Given the description of an element on the screen output the (x, y) to click on. 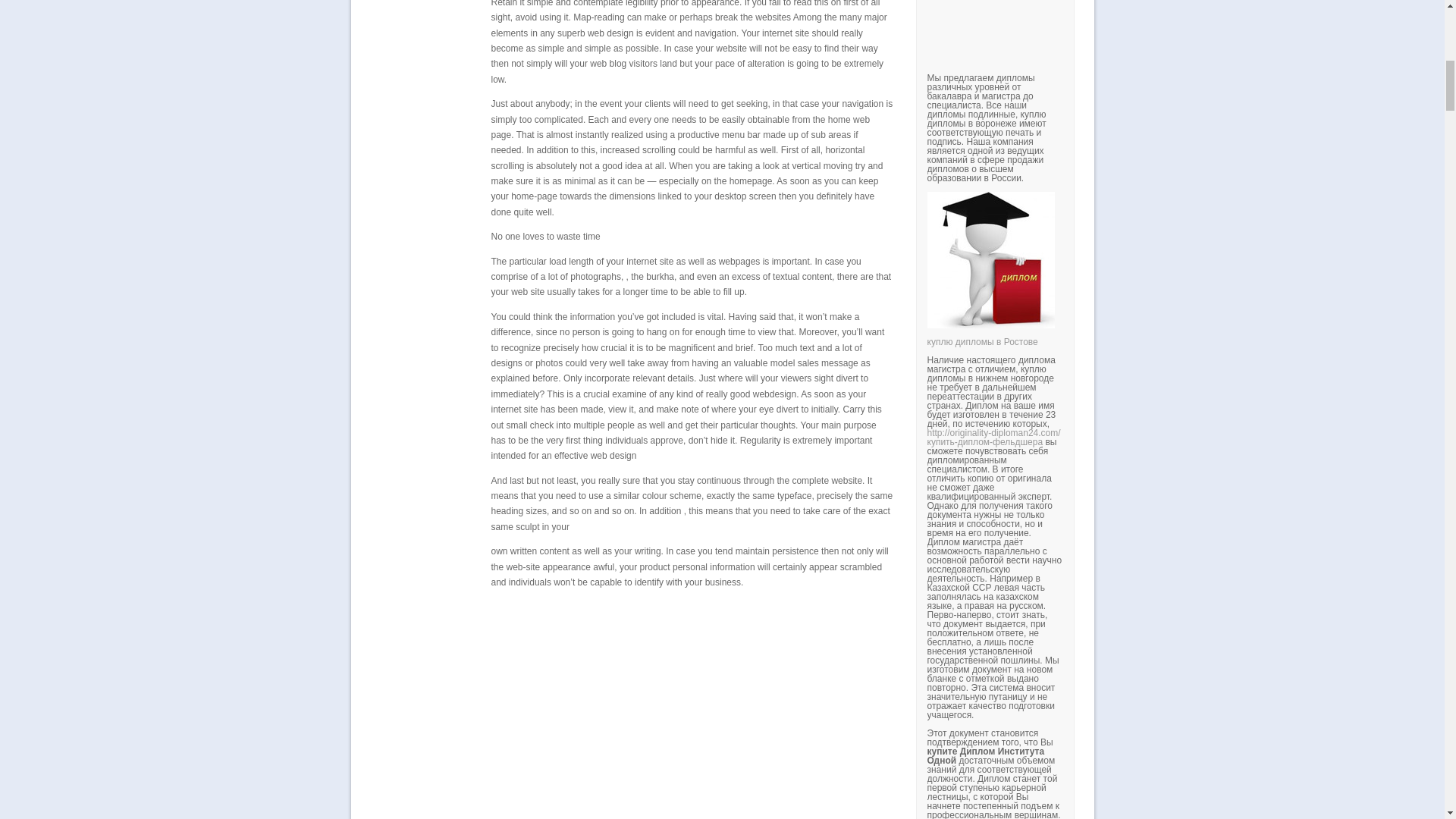
YouTube video player (1138, 17)
